Given the description of an element on the screen output the (x, y) to click on. 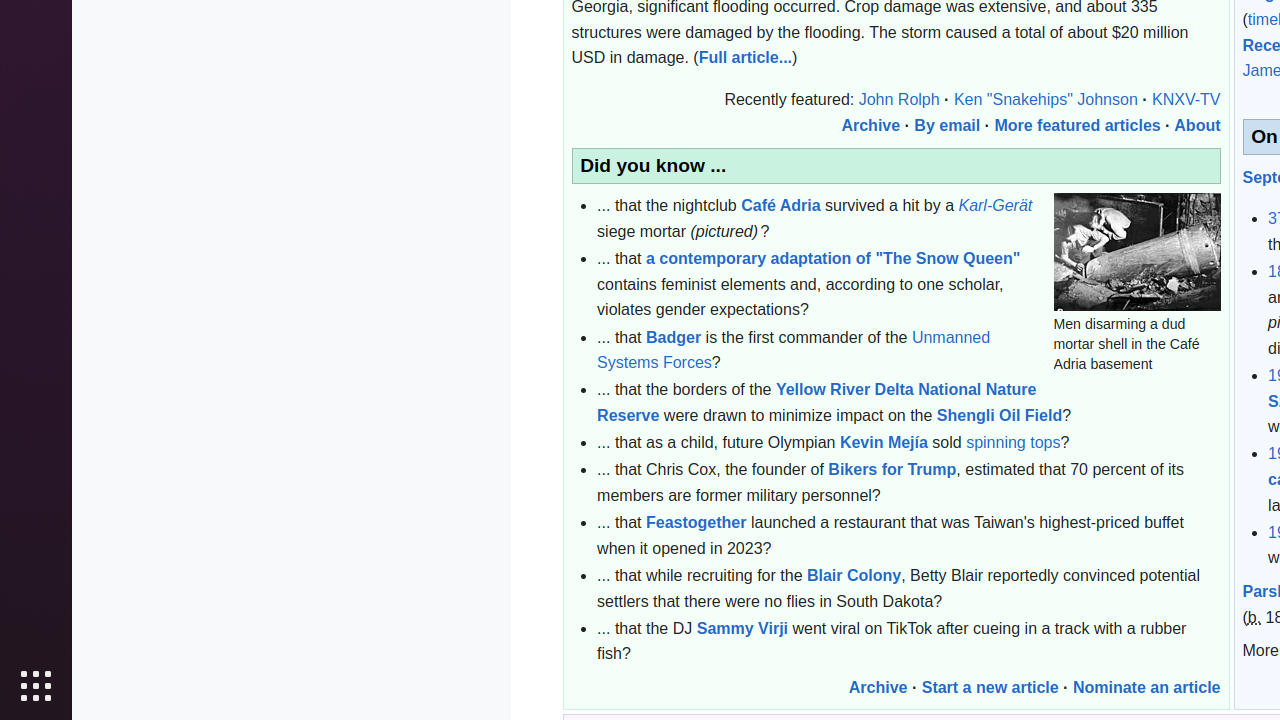
Bikers for Trump Element type: link (892, 469)
Full article... Element type: link (745, 57)
Blair Colony Element type: link (854, 575)
Karl-Gerät Element type: link (995, 206)
John Rolph Element type: link (899, 99)
